Given the description of an element on the screen output the (x, y) to click on. 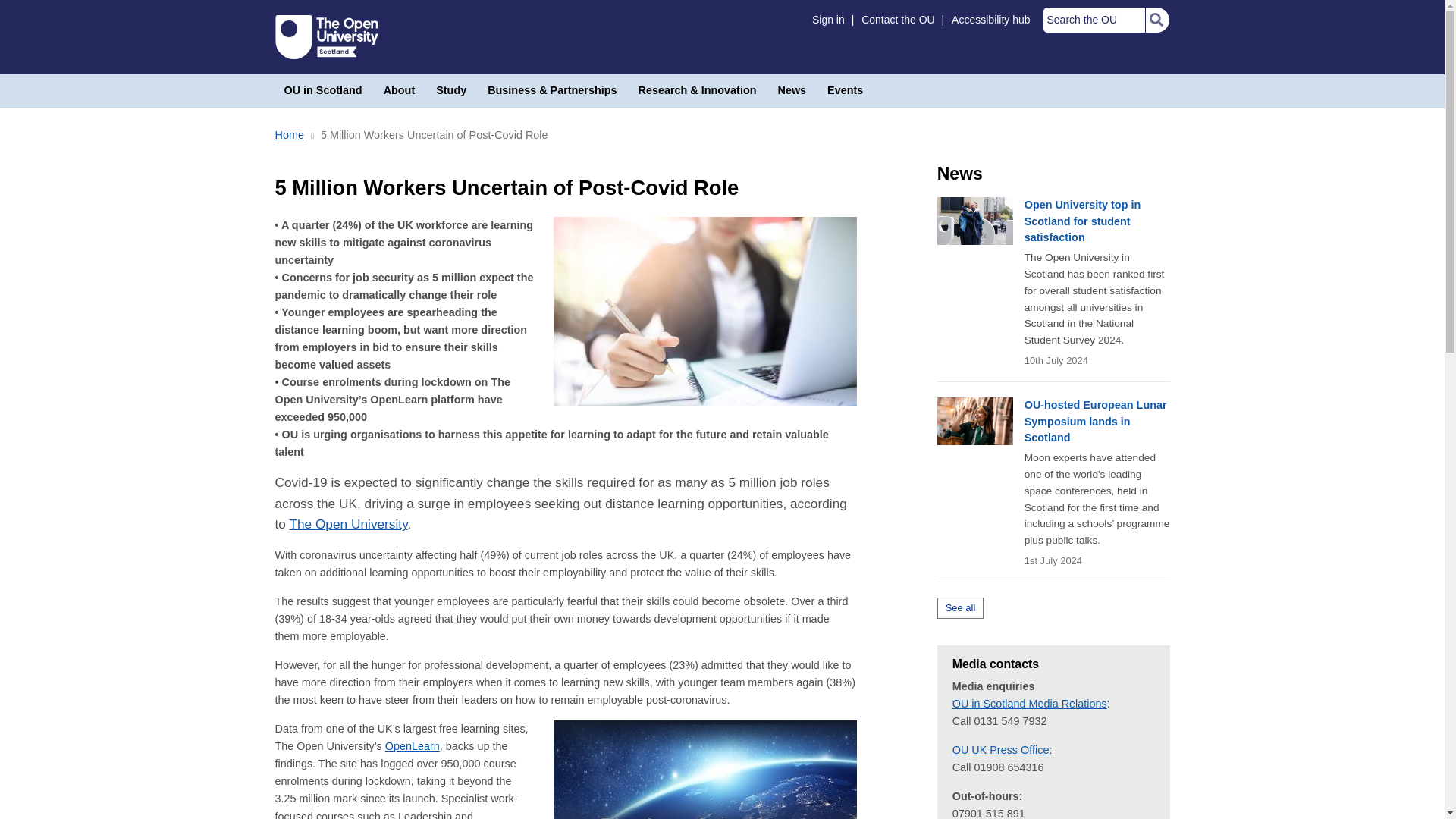
OpenLearn (412, 746)
Sign in (828, 19)
Woman with notepad and laptop (705, 311)
The Open University (326, 36)
Search (1156, 19)
News (791, 90)
Events (845, 90)
